Given the description of an element on the screen output the (x, y) to click on. 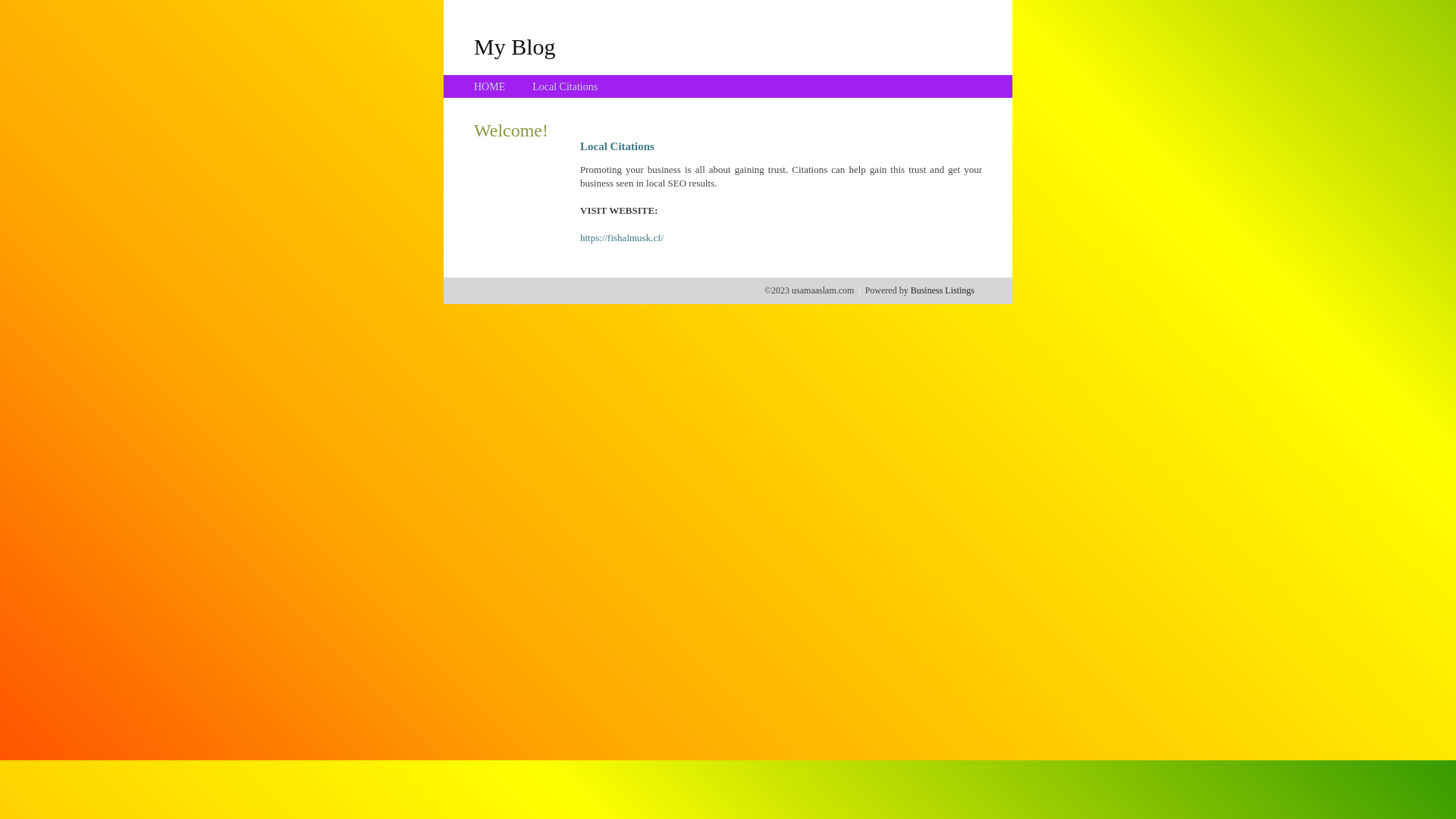
https://fishalmusk.cf/ Element type: text (621, 237)
Business Listings Element type: text (942, 290)
HOME Element type: text (489, 86)
Local Citations Element type: text (564, 86)
My Blog Element type: text (514, 46)
